Given the description of an element on the screen output the (x, y) to click on. 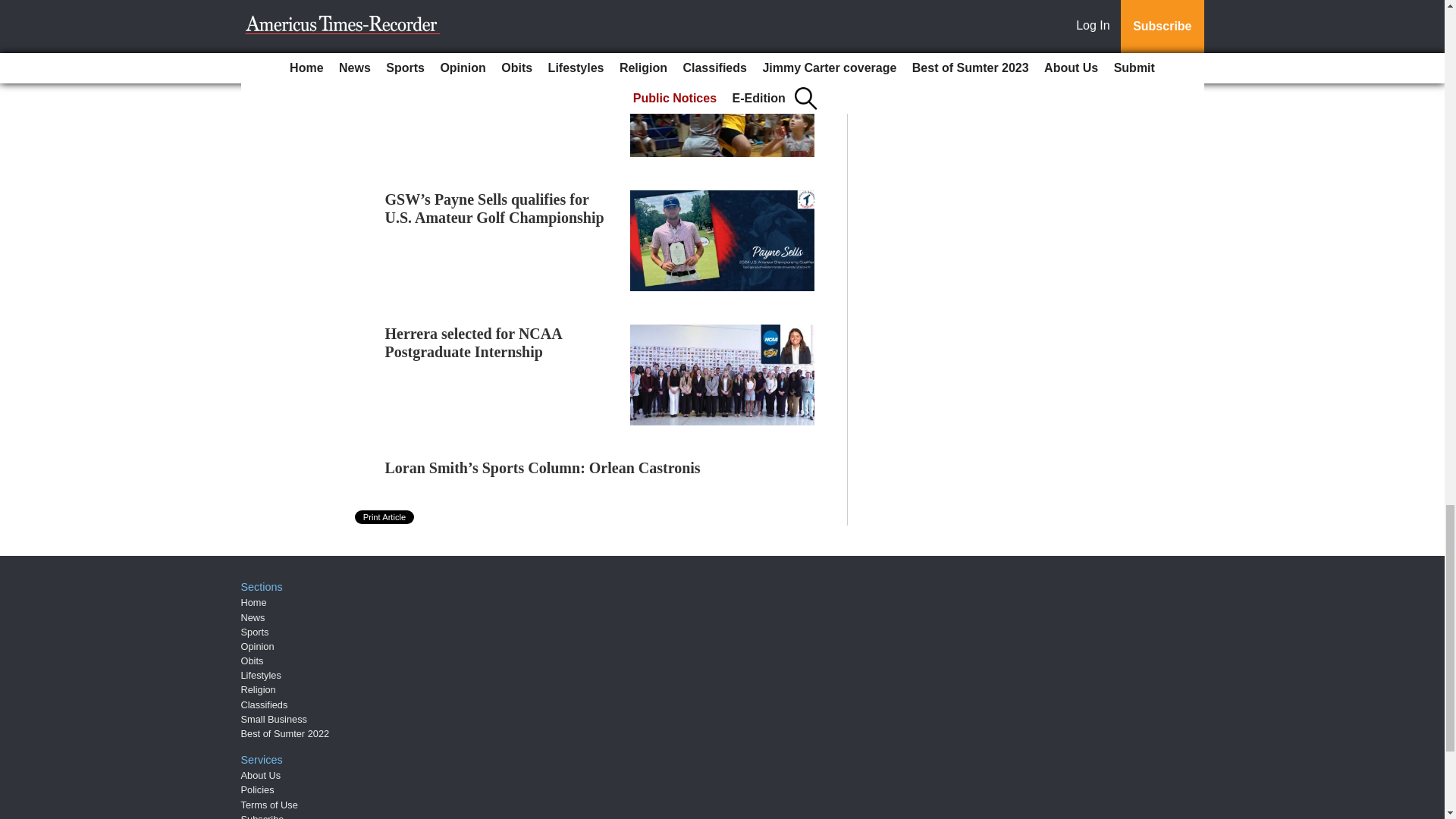
News (252, 616)
14u Michigan squad defeats UCONN in DHBC play (475, 73)
Herrera selected for NCAA Postgraduate Internship (473, 342)
Opinion (258, 645)
14u Michigan squad defeats UCONN in DHBC play (475, 73)
Herrera selected for NCAA Postgraduate Internship (473, 342)
Home (253, 602)
Print Article (384, 517)
Sports (255, 632)
